Given the description of an element on the screen output the (x, y) to click on. 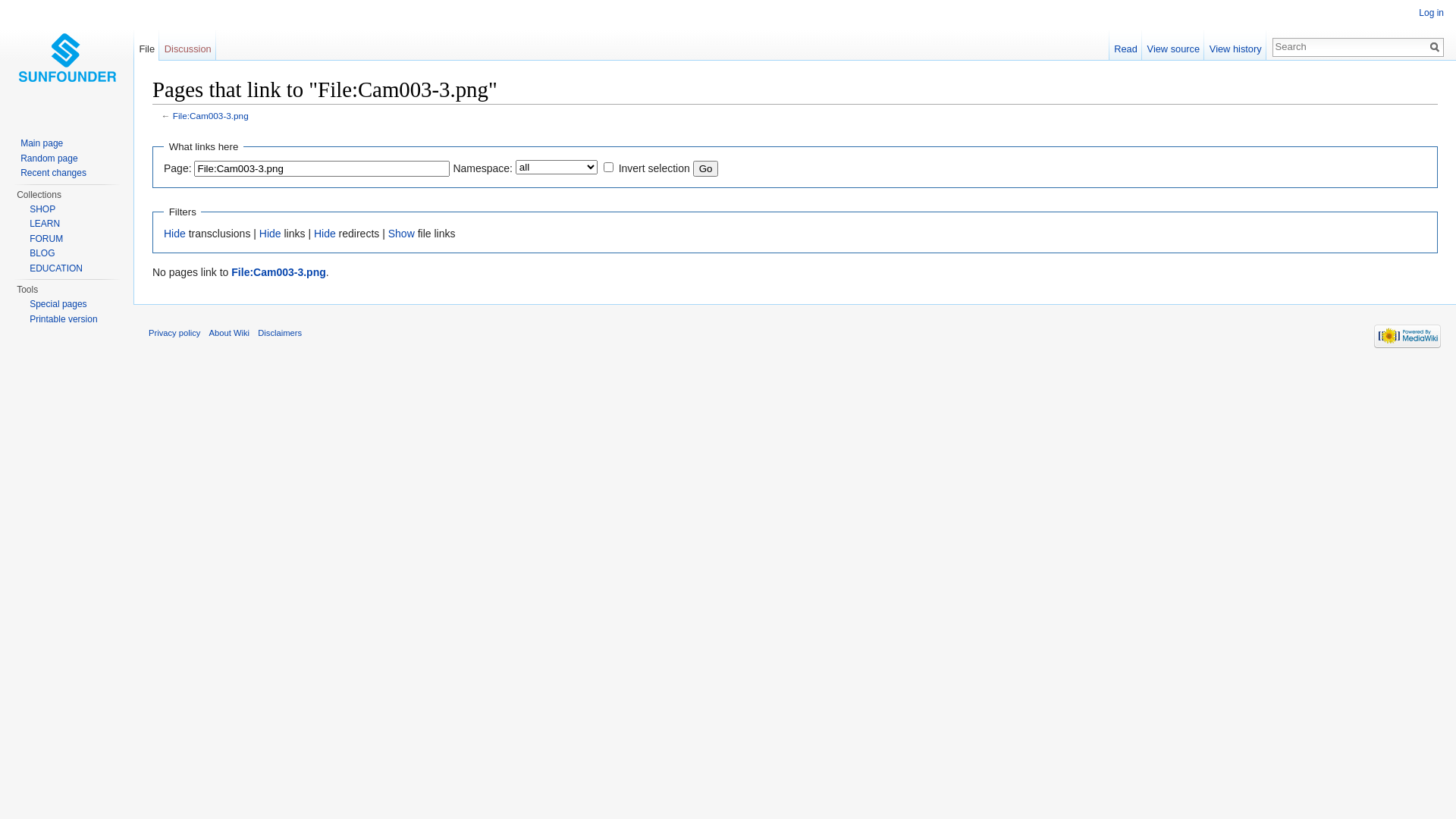
Privacy policy Element type: text (174, 332)
FORUM Element type: text (45, 238)
Show Element type: text (401, 233)
Discussion Element type: text (187, 45)
EDUCATION Element type: text (55, 267)
Search Wiki [f] Element type: hover (1349, 45)
Read Element type: text (1125, 45)
Main page Element type: text (41, 143)
Search the pages for this text Element type: hover (1434, 46)
Recent changes Element type: text (53, 172)
View history Element type: text (1235, 45)
Hide Element type: text (174, 233)
Visit the main page Element type: hover (66, 60)
About Wiki Element type: text (229, 332)
Random page Element type: text (48, 158)
Special pages Element type: text (57, 303)
Go Element type: text (705, 168)
Printable version Element type: text (63, 318)
Hide Element type: text (270, 233)
SHOP Element type: text (42, 208)
Log in Element type: text (1430, 12)
Disclaimers Element type: text (279, 332)
Search Element type: text (1434, 46)
File Element type: text (146, 45)
File:Cam003-3.png Element type: text (210, 115)
File:Cam003-3.png Element type: text (278, 272)
Hide Element type: text (324, 233)
LEARN Element type: text (44, 223)
BLOG Element type: text (41, 252)
View source Element type: text (1173, 45)
